Given the description of an element on the screen output the (x, y) to click on. 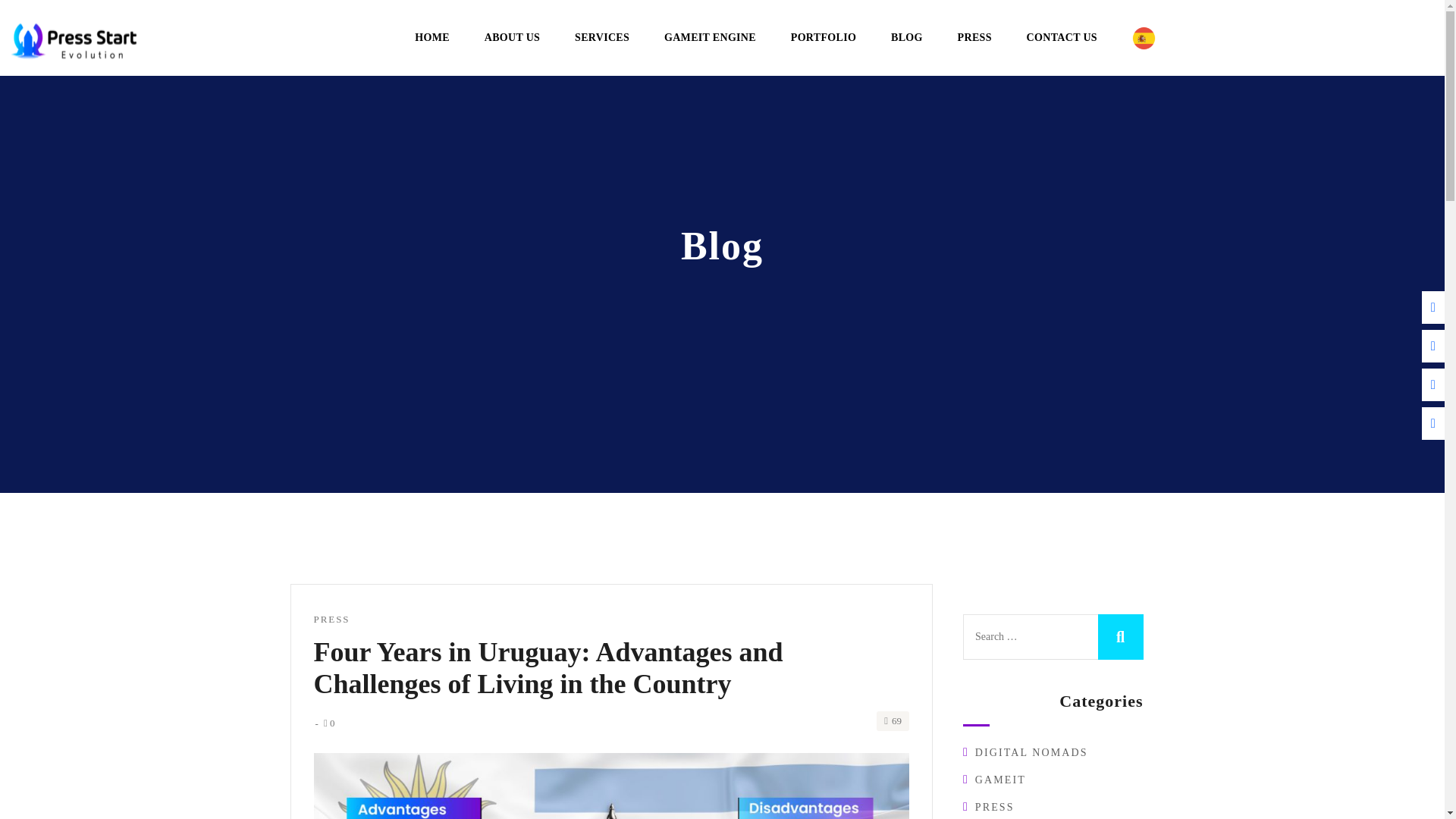
SERVICES (602, 38)
ABOUT US (512, 38)
GAMEIT ENGINE (709, 38)
PORTFOLIO (823, 38)
CONTACT US (1061, 38)
